Given the description of an element on the screen output the (x, y) to click on. 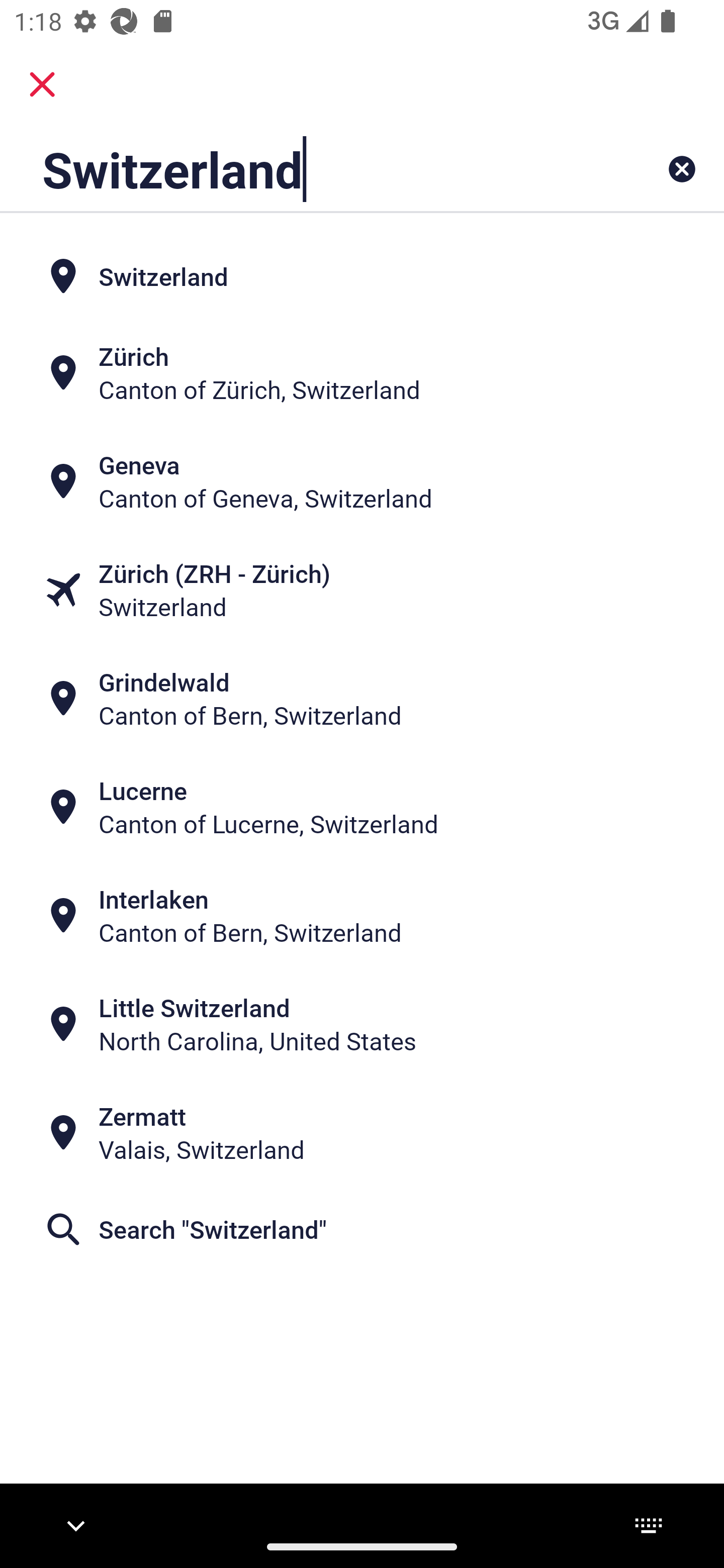
close. (42, 84)
Clear (681, 169)
Switzerland (298, 169)
Switzerland (362, 275)
Zürich Canton of Zürich, Switzerland (362, 372)
Geneva Canton of Geneva, Switzerland (362, 481)
Zürich (ZRH - Zürich) Switzerland (362, 590)
Grindelwald Canton of Bern, Switzerland (362, 698)
Lucerne Canton of Lucerne, Switzerland (362, 806)
Interlaken Canton of Bern, Switzerland (362, 915)
Little Switzerland North Carolina, United States (362, 1024)
Zermatt Valais, Switzerland (362, 1132)
Search "Switzerland" (362, 1228)
